Given the description of an element on the screen output the (x, y) to click on. 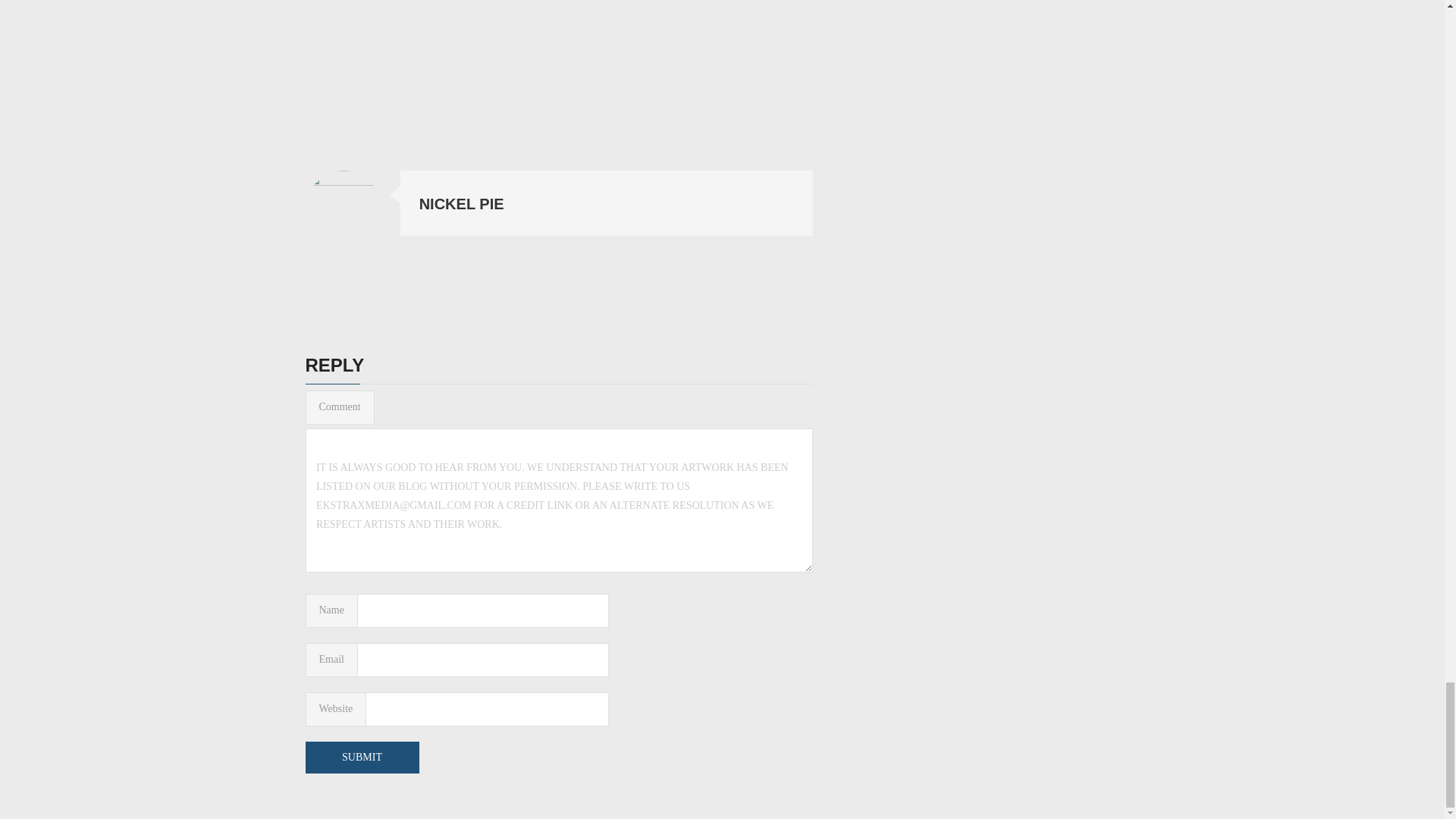
NICKEL PIE (461, 203)
Submit (361, 757)
Submit (361, 757)
